Given the description of an element on the screen output the (x, y) to click on. 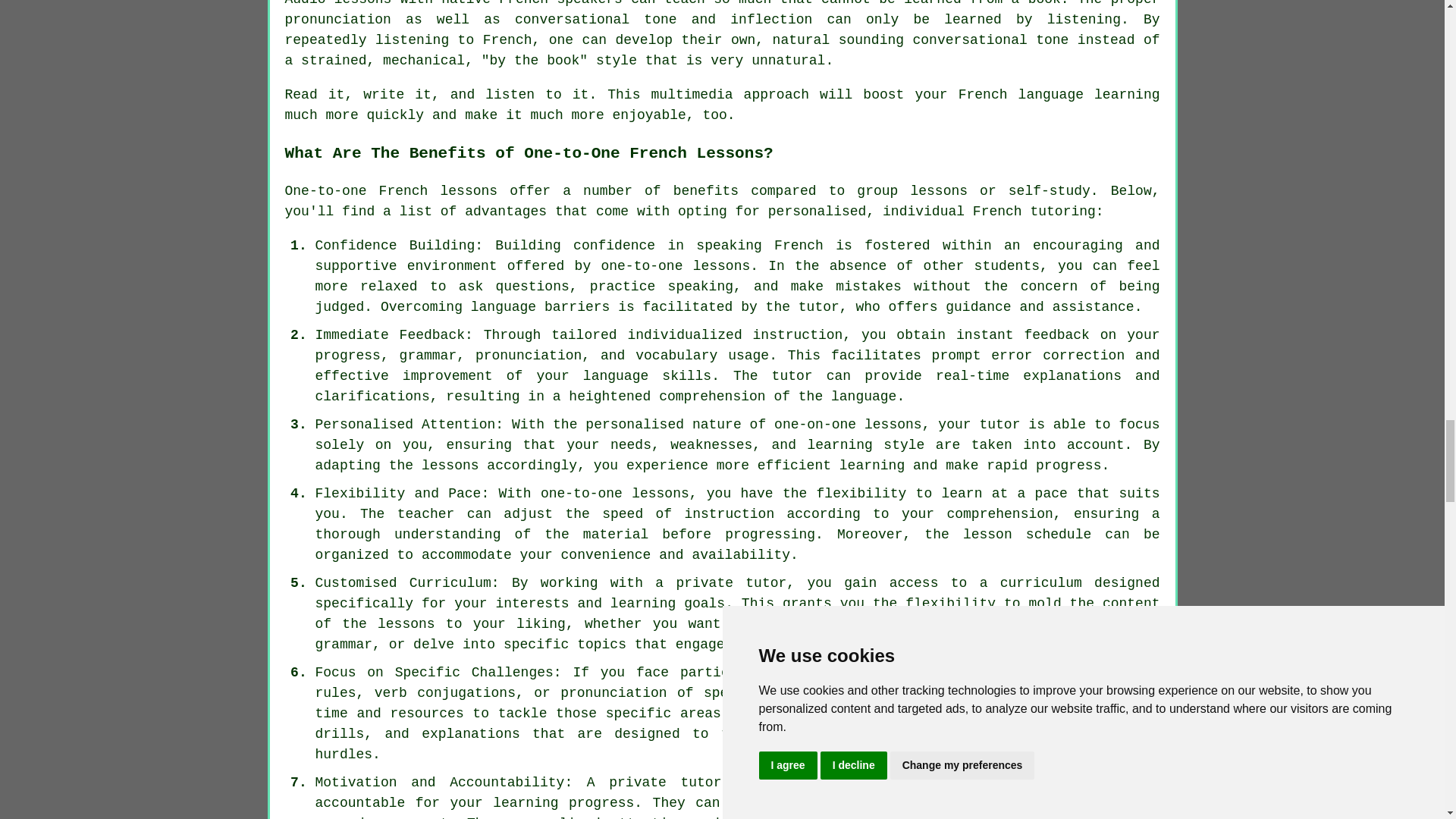
French language learning (1059, 93)
